Given the description of an element on the screen output the (x, y) to click on. 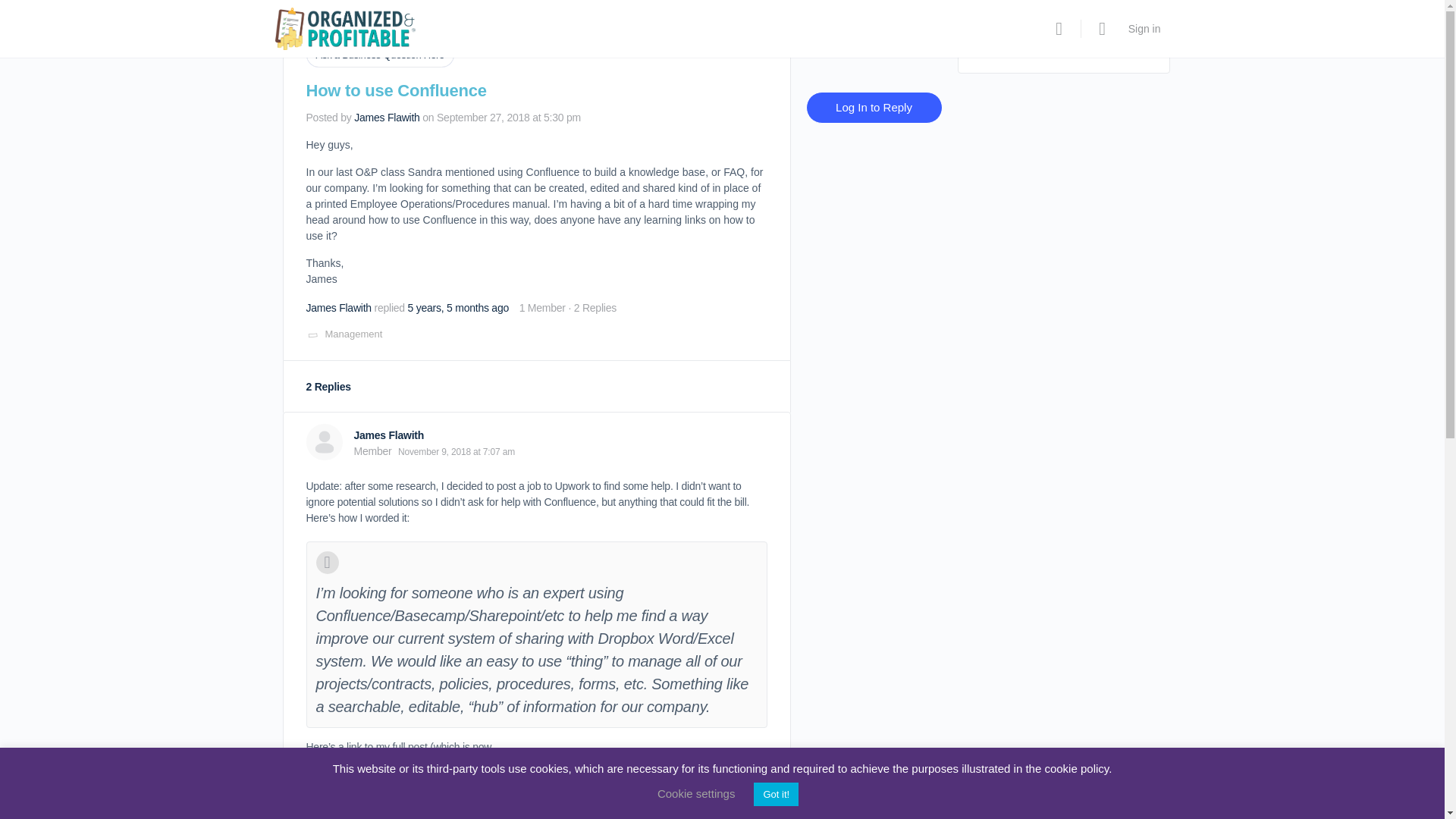
Ask a Business Question Here (379, 54)
Sign in (1144, 28)
Reply To: How to use Confluence (457, 307)
James Flawith (338, 307)
View James Flawith's profile (386, 117)
James Flawith (388, 435)
Management (352, 333)
5 years, 5 months ago (457, 307)
View James Flawith's profile (388, 435)
View James Flawith's profile (323, 442)
Log In to Reply (873, 107)
James Flawith (386, 117)
View James Flawith's profile (338, 307)
